Given the description of an element on the screen output the (x, y) to click on. 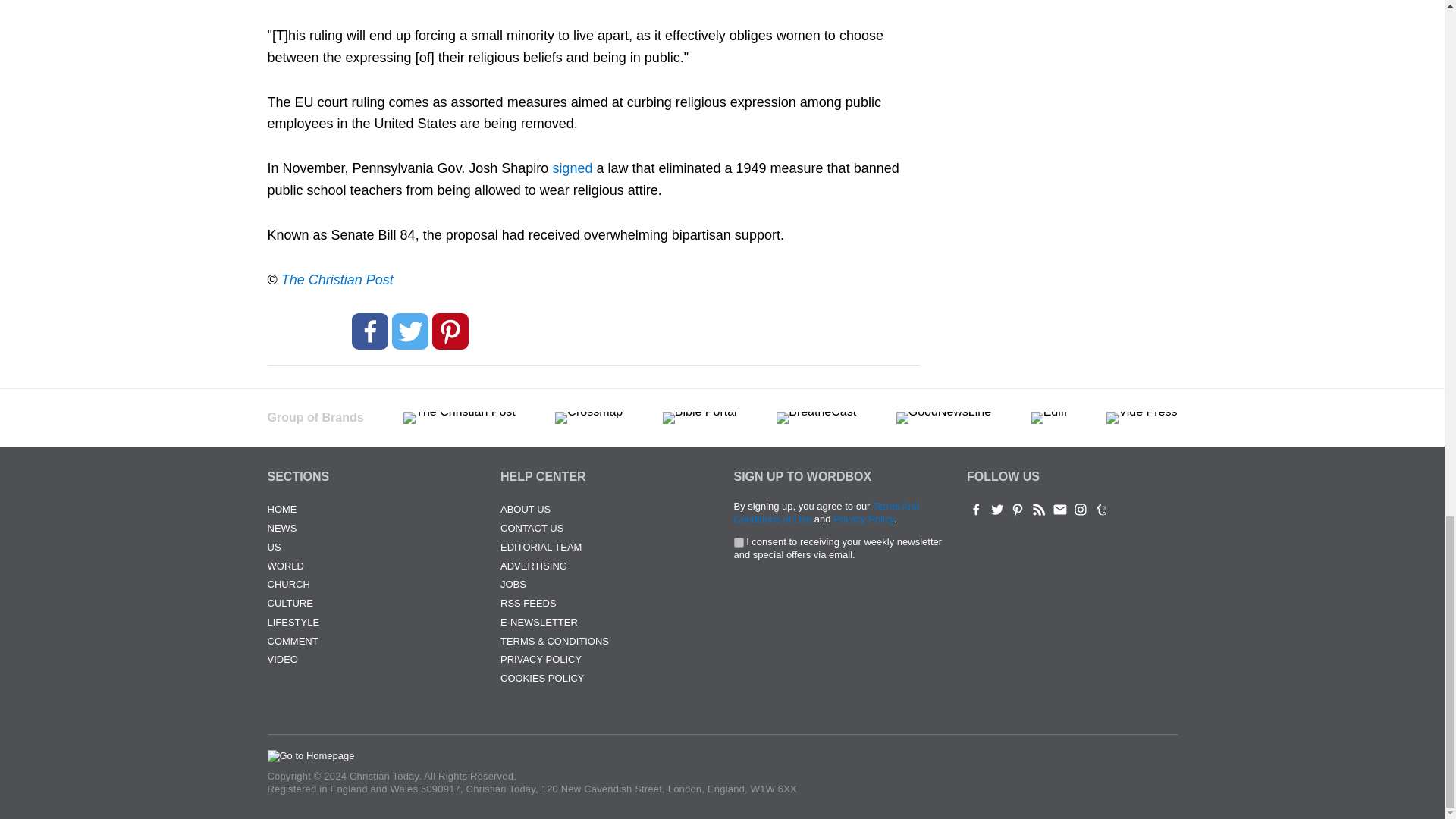
on (738, 542)
